Given the description of an element on the screen output the (x, y) to click on. 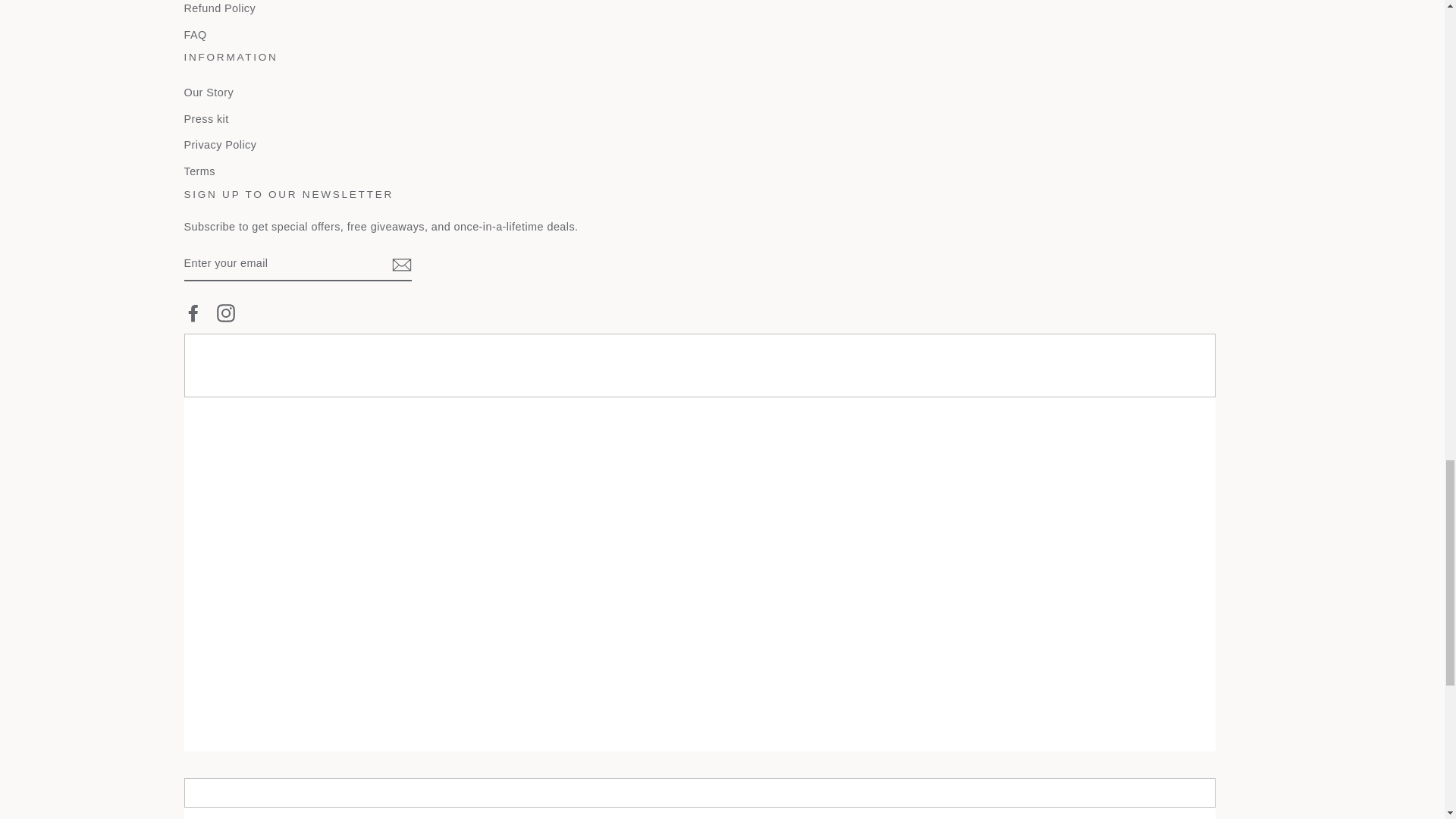
Browgame.com on Facebook (192, 312)
Browgame.com on Instagram (225, 312)
